Given the description of an element on the screen output the (x, y) to click on. 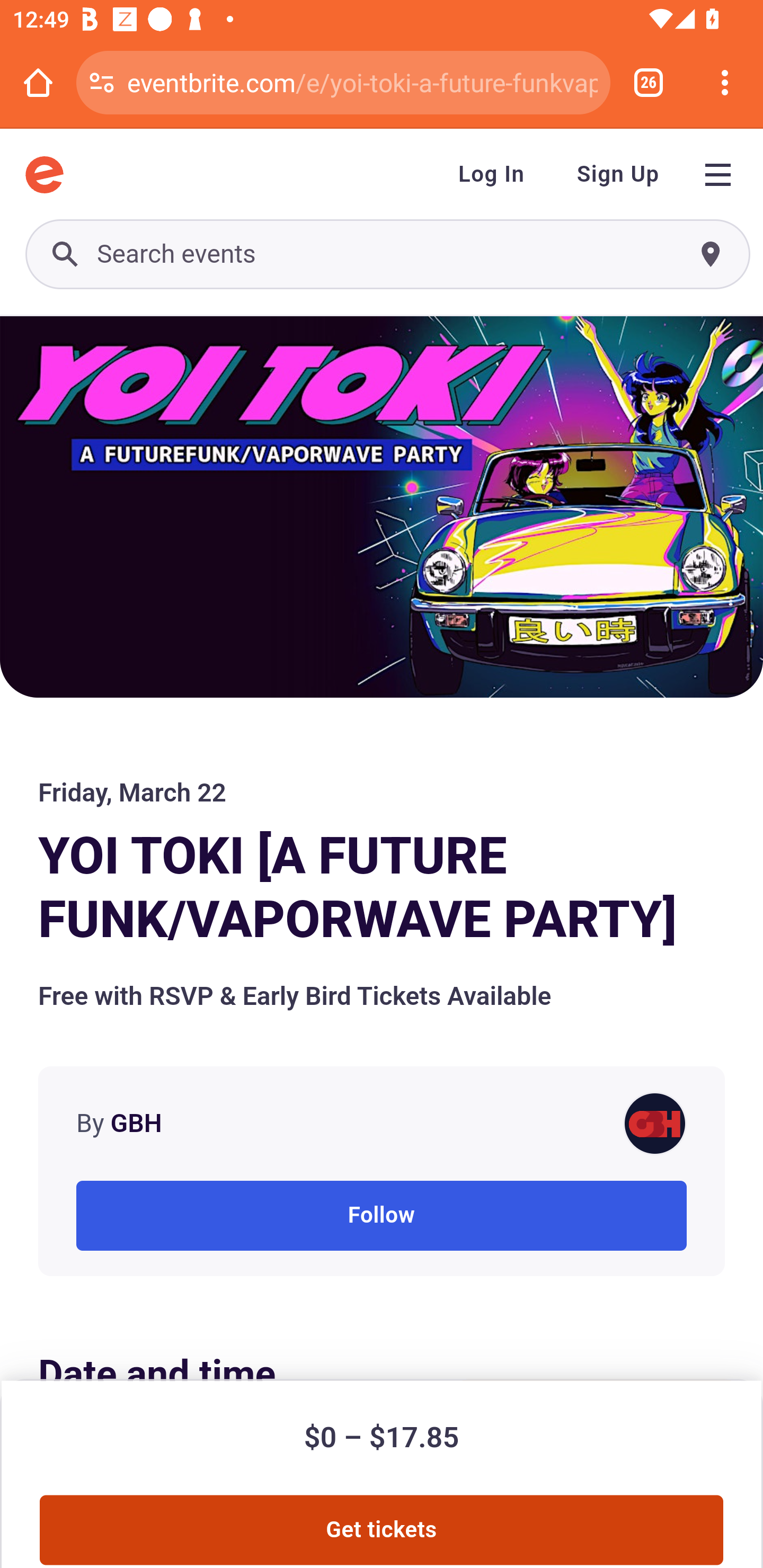
Open the home page (38, 82)
Connection is secure (101, 82)
Switch or close tabs (648, 82)
Customize and control Google Chrome (724, 82)
Log In (491, 174)
Sign Up (617, 174)
Home Eventbrite (44, 174)
Search (387, 253)
Follow (381, 1215)
